Given the description of an element on the screen output the (x, y) to click on. 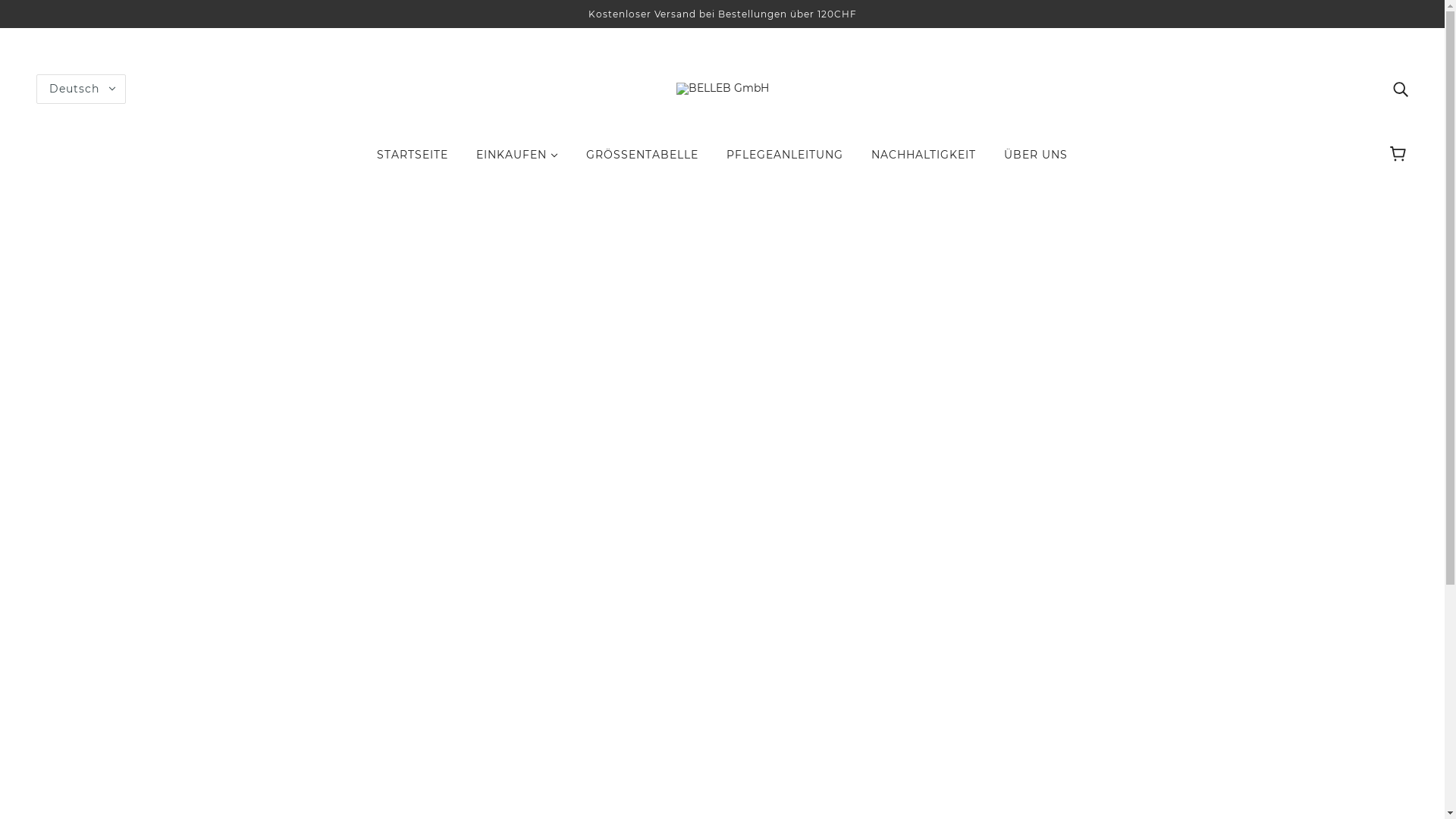
STARTSEITE Element type: text (412, 160)
PFLEGEANLEITUNG Element type: text (784, 160)
NACHHALTIGKEIT Element type: text (923, 160)
EINKAUFEN Element type: text (517, 160)
BELLEB GmbH Element type: hover (722, 87)
